Given the description of an element on the screen output the (x, y) to click on. 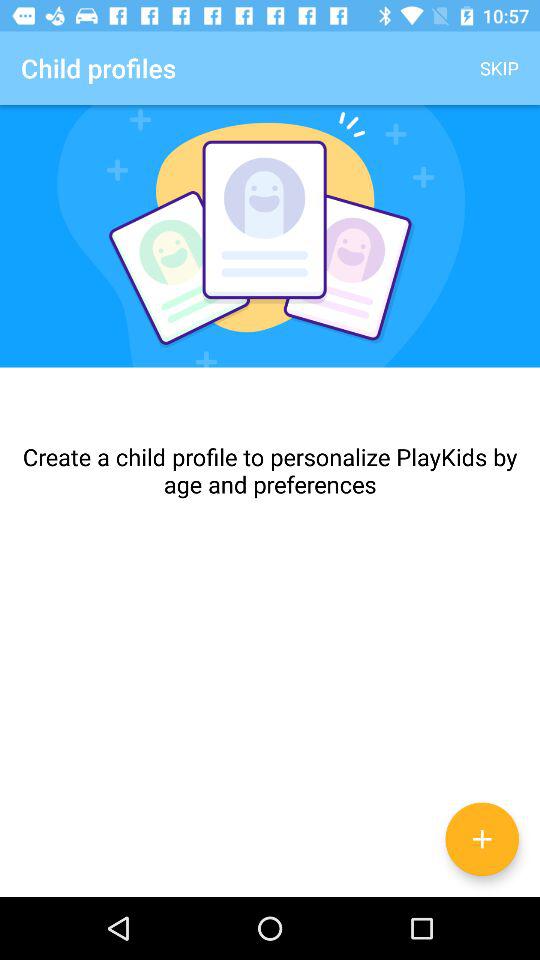
open the icon at the top right corner (499, 67)
